Given the description of an element on the screen output the (x, y) to click on. 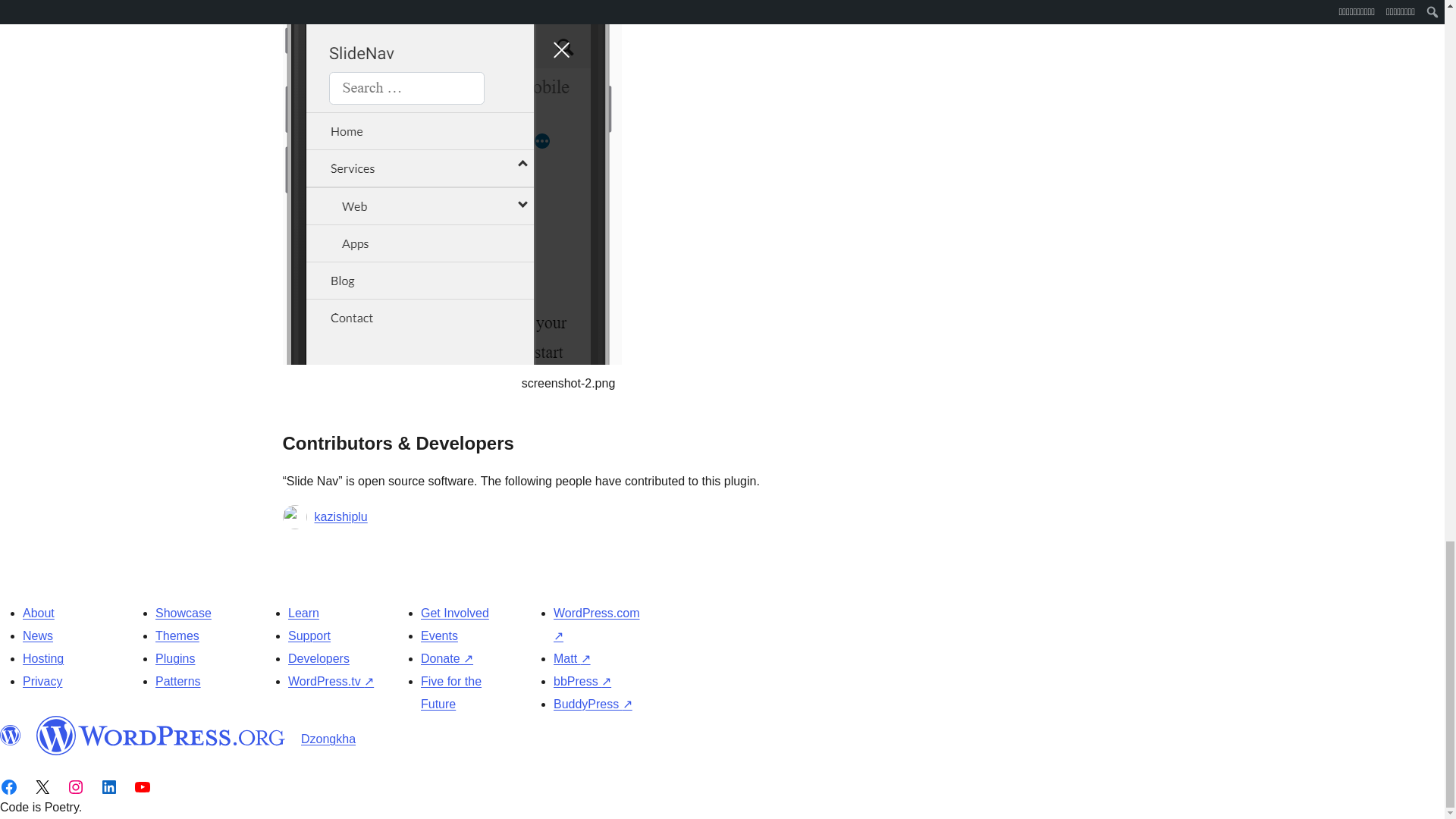
WordPress.org (160, 735)
kazishiplu (340, 517)
WordPress.org (10, 735)
